Given the description of an element on the screen output the (x, y) to click on. 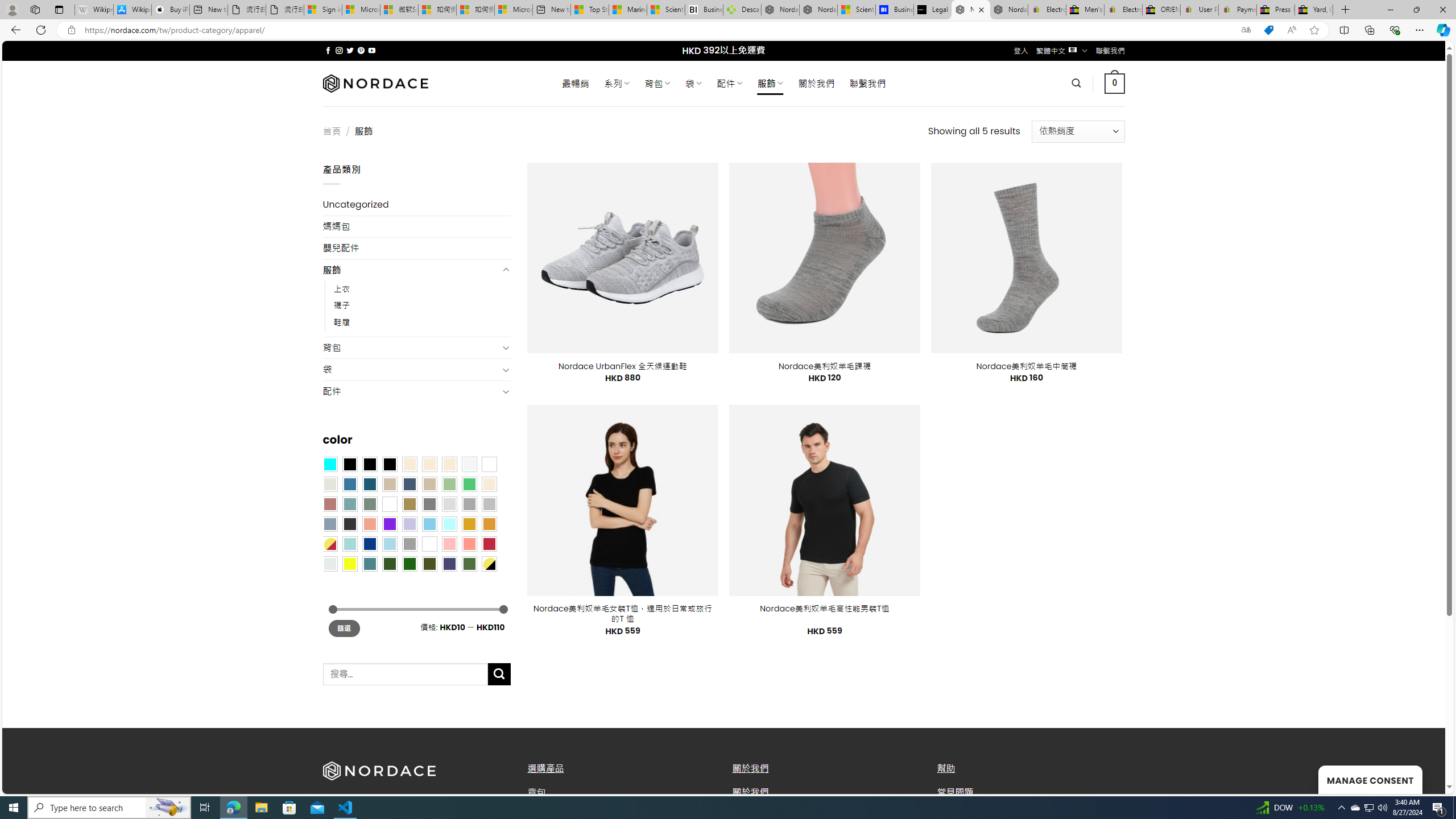
Press Room - eBay Inc. (1276, 9)
Follow on Facebook (327, 50)
 0  (1115, 83)
Yard, Garden & Outdoor Living (1314, 9)
Follow on YouTube (371, 50)
